Given the description of an element on the screen output the (x, y) to click on. 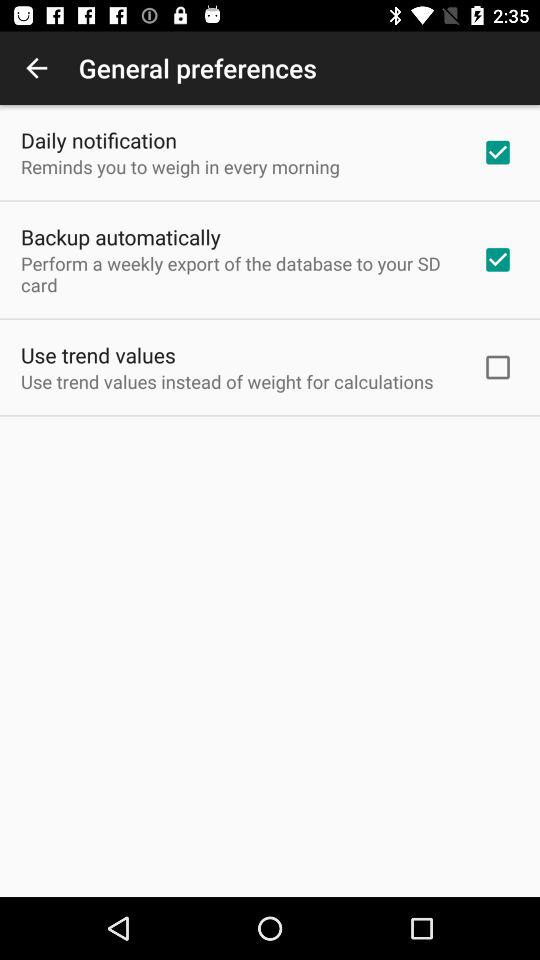
choose the app next to the general preferences app (36, 68)
